Given the description of an element on the screen output the (x, y) to click on. 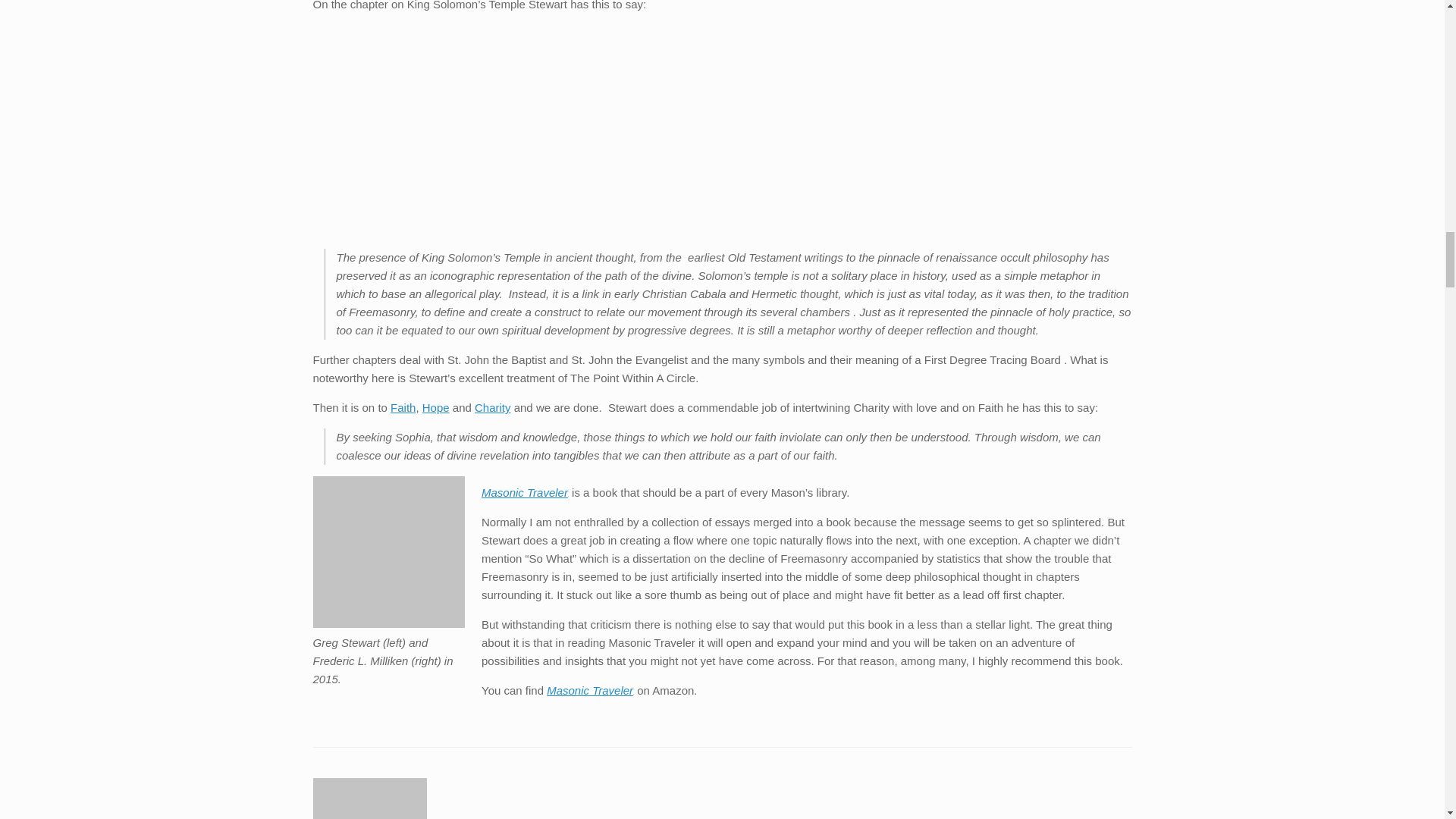
Hope (435, 407)
Faith (402, 407)
Masonic Traveler (590, 689)
Charity (492, 407)
Masonic Traveler (524, 492)
